Given the description of an element on the screen output the (x, y) to click on. 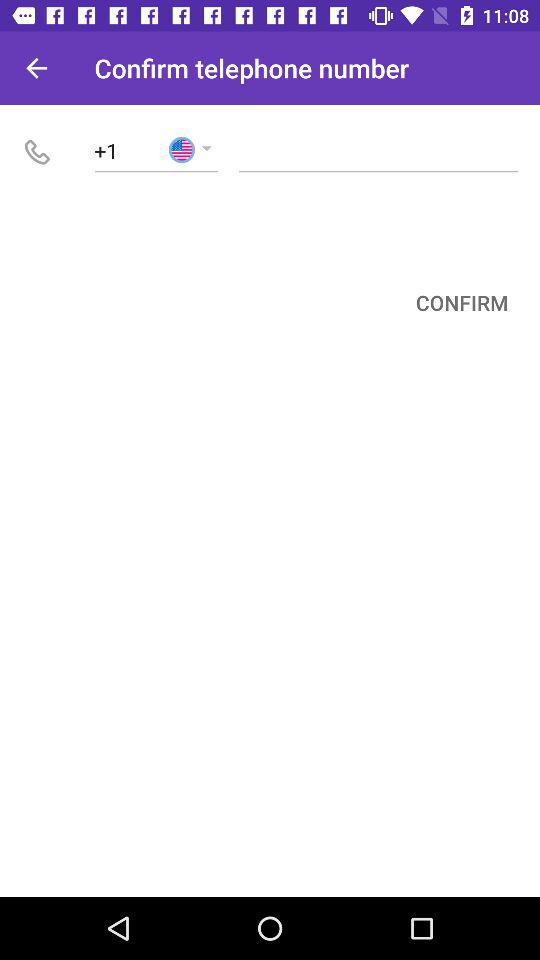
type phone number (378, 150)
